Given the description of an element on the screen output the (x, y) to click on. 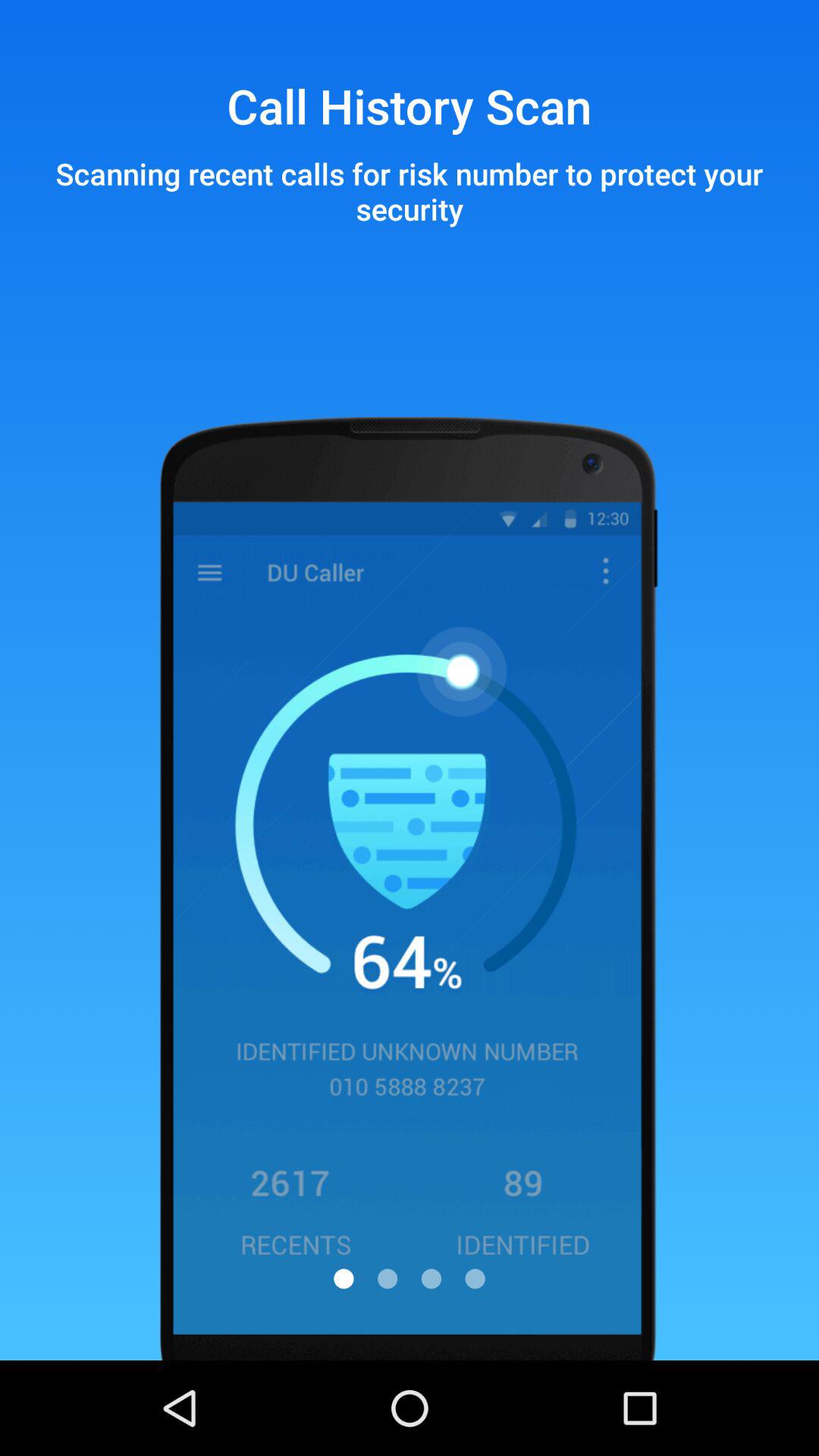
press the app below the scanning recent calls icon (343, 1278)
